Given the description of an element on the screen output the (x, y) to click on. 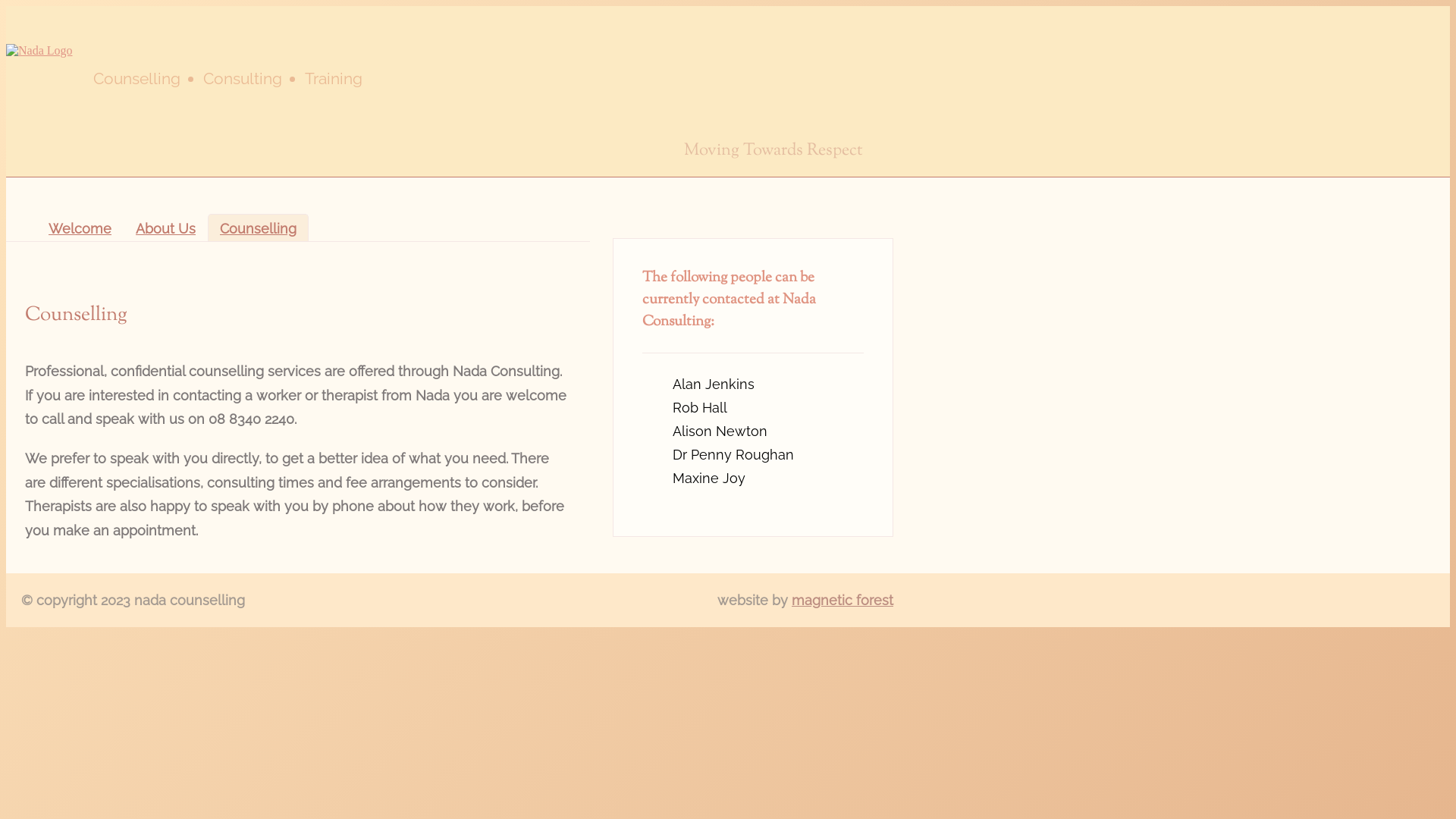
magnetic forest Element type: text (842, 600)
About Us Element type: text (165, 227)
Counselling Element type: text (257, 227)
Welcome Element type: text (79, 227)
